Given the description of an element on the screen output the (x, y) to click on. 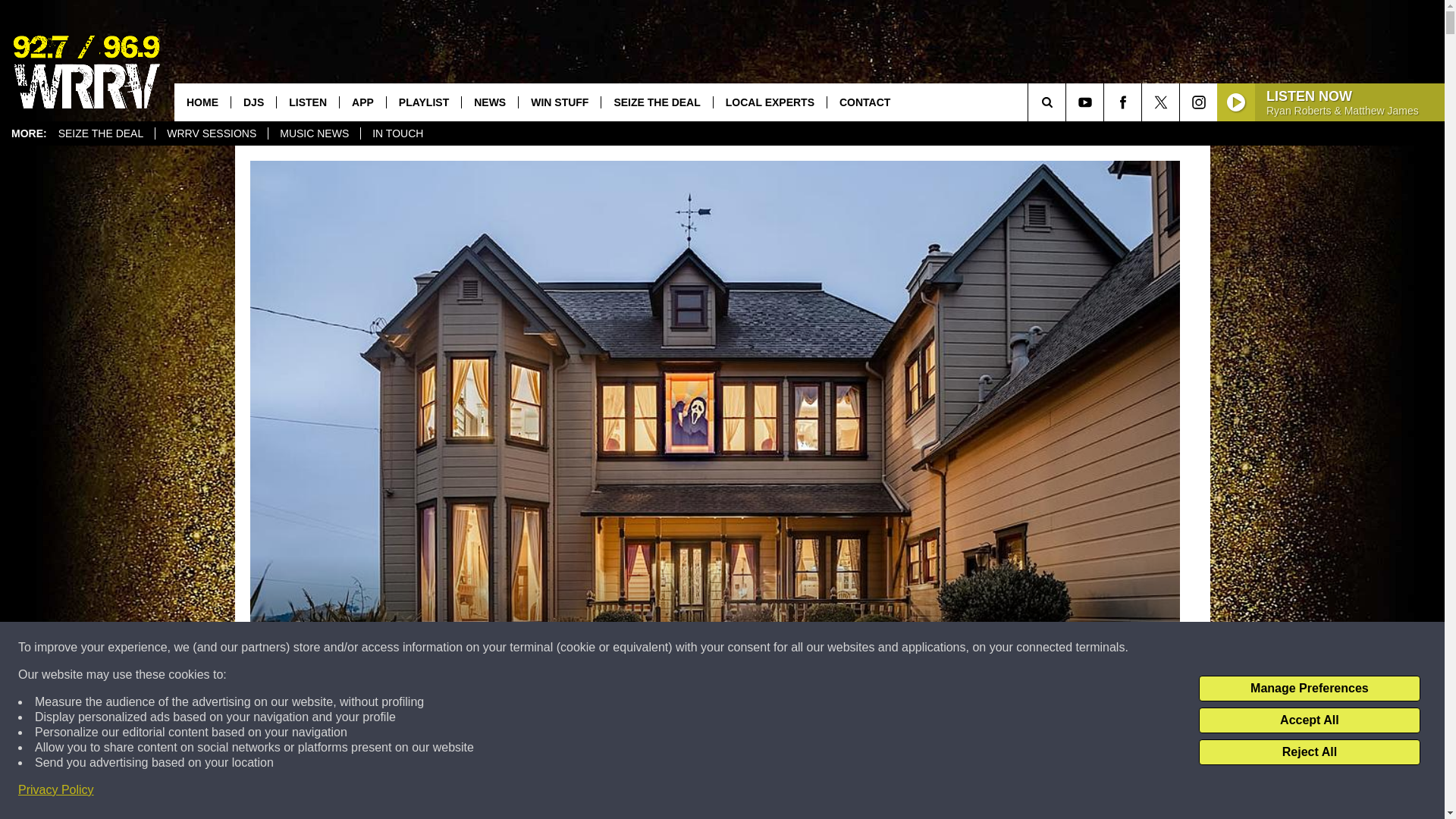
SEARCH (1068, 102)
WRRV SESSIONS (210, 133)
Share on Twitter (912, 791)
Share on Facebook (517, 791)
APP (362, 102)
SEIZE THE DEAL (655, 102)
LISTEN (307, 102)
Privacy Policy (55, 789)
LOCAL EXPERTS (770, 102)
DJS (253, 102)
IN TOUCH (396, 133)
WIN STUFF (558, 102)
MUSIC NEWS (313, 133)
Accept All (1309, 720)
NEWS (489, 102)
